Given the description of an element on the screen output the (x, y) to click on. 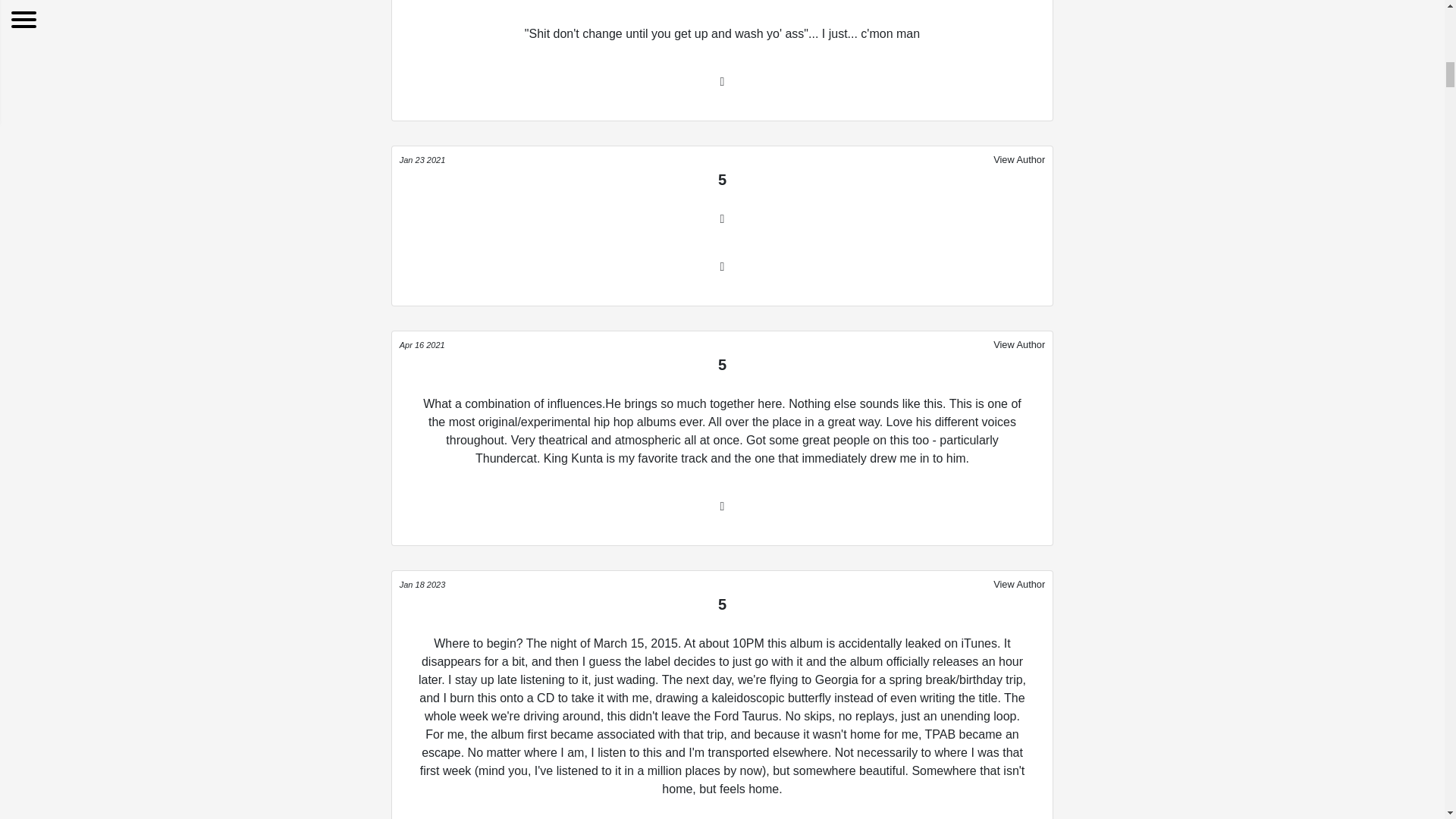
View Author (1018, 158)
View Author (1018, 343)
View Author (1018, 583)
